Given the description of an element on the screen output the (x, y) to click on. 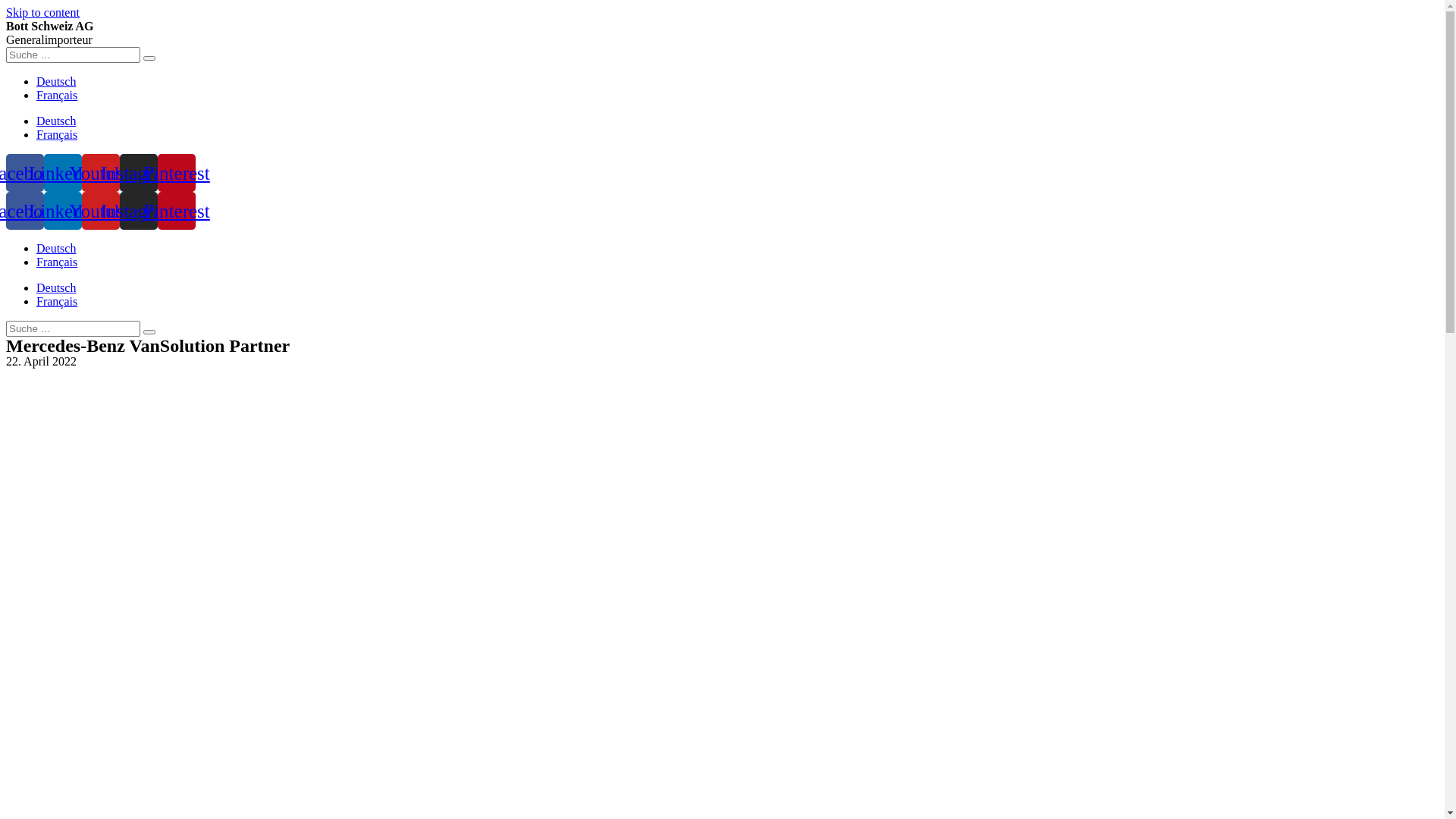
Facebook Element type: text (24, 172)
Instagram Element type: text (138, 210)
Deutsch Element type: text (55, 247)
Skip to content Element type: text (42, 12)
Deutsch Element type: text (55, 287)
Pinterest Element type: text (176, 210)
Pinterest Element type: text (176, 172)
Deutsch Element type: text (55, 120)
Youtube Element type: text (100, 172)
Facebook Element type: text (24, 210)
Youtube Element type: text (100, 210)
Linkedin Element type: text (62, 210)
Instagram Element type: text (138, 172)
Deutsch Element type: text (55, 81)
Linkedin Element type: text (62, 172)
